Given the description of an element on the screen output the (x, y) to click on. 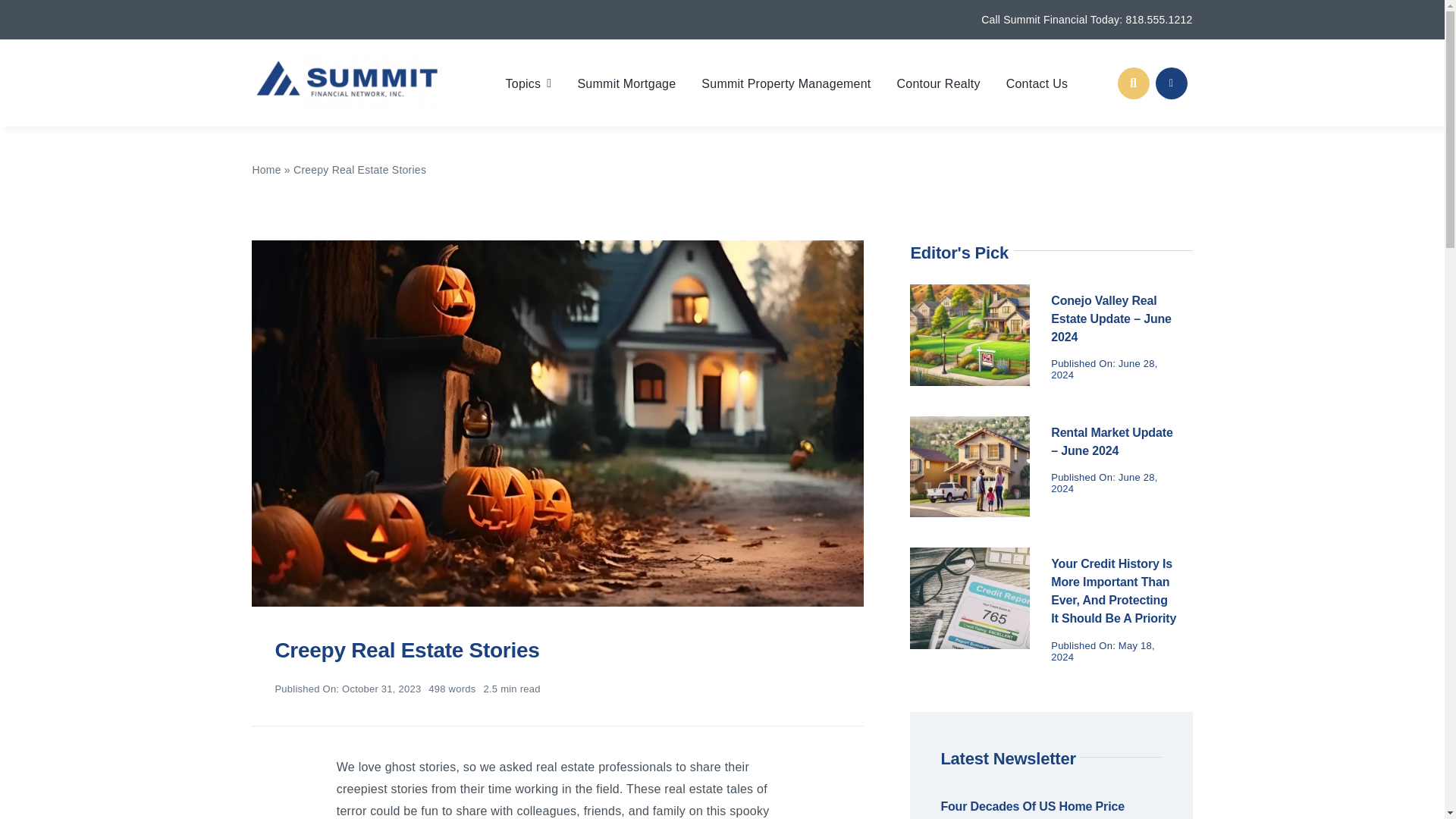
Contour Realty (937, 82)
Topics (528, 82)
Four Decades Of US Home Price Increases (1032, 809)
Contact Us (1037, 82)
Home (266, 169)
Summit Property Management (785, 82)
Summit Mortgage (625, 82)
